Given the description of an element on the screen output the (x, y) to click on. 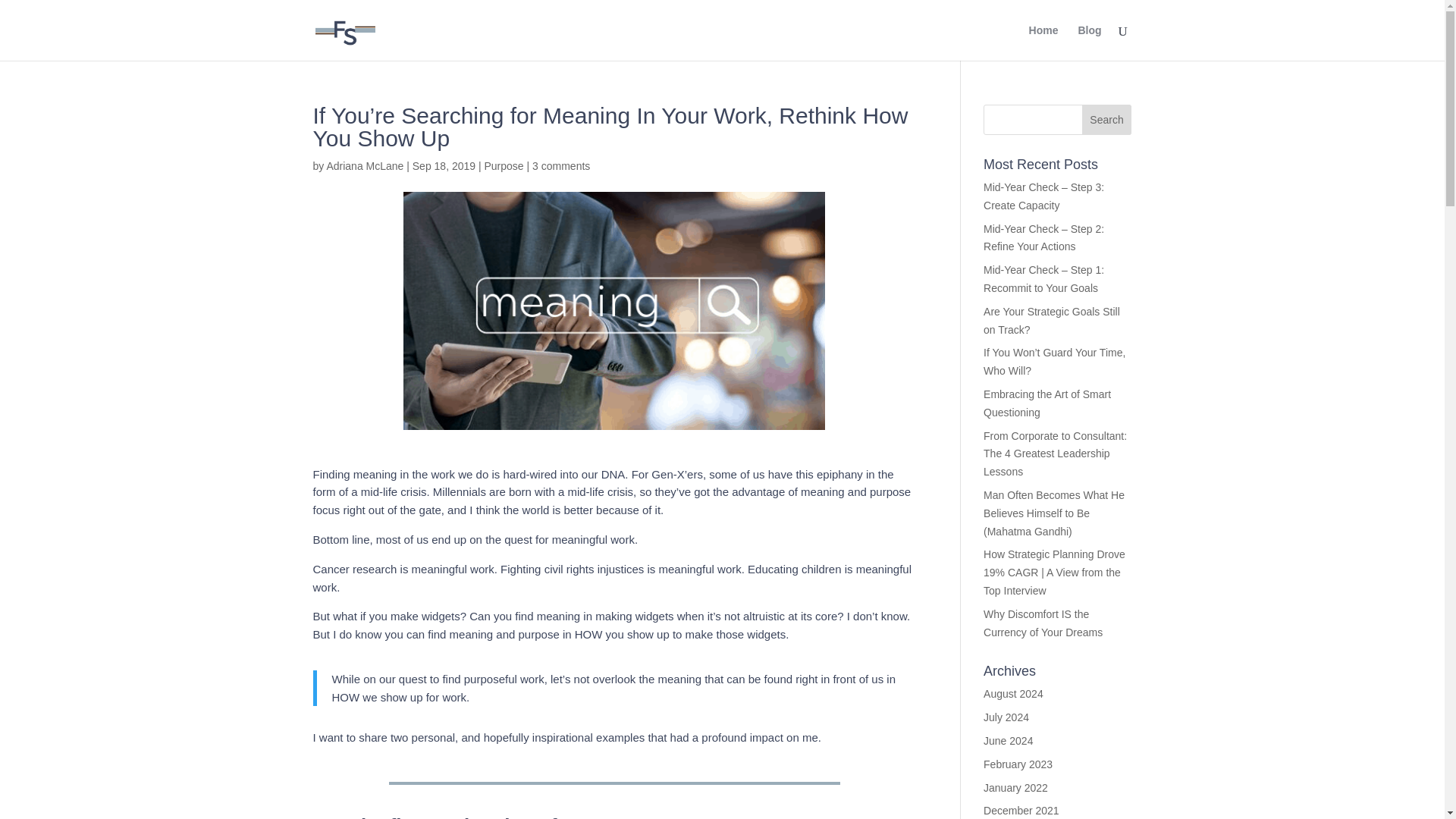
Search (1106, 119)
August 2024 (1013, 693)
Embracing the Art of Smart Questioning (1047, 403)
January 2022 (1016, 787)
Why Discomfort IS the Currency of Your Dreams (1043, 623)
Purpose (502, 165)
3 comments (560, 165)
Adriana McLane (364, 165)
Are Your Strategic Goals Still on Track? (1051, 320)
